Given the description of an element on the screen output the (x, y) to click on. 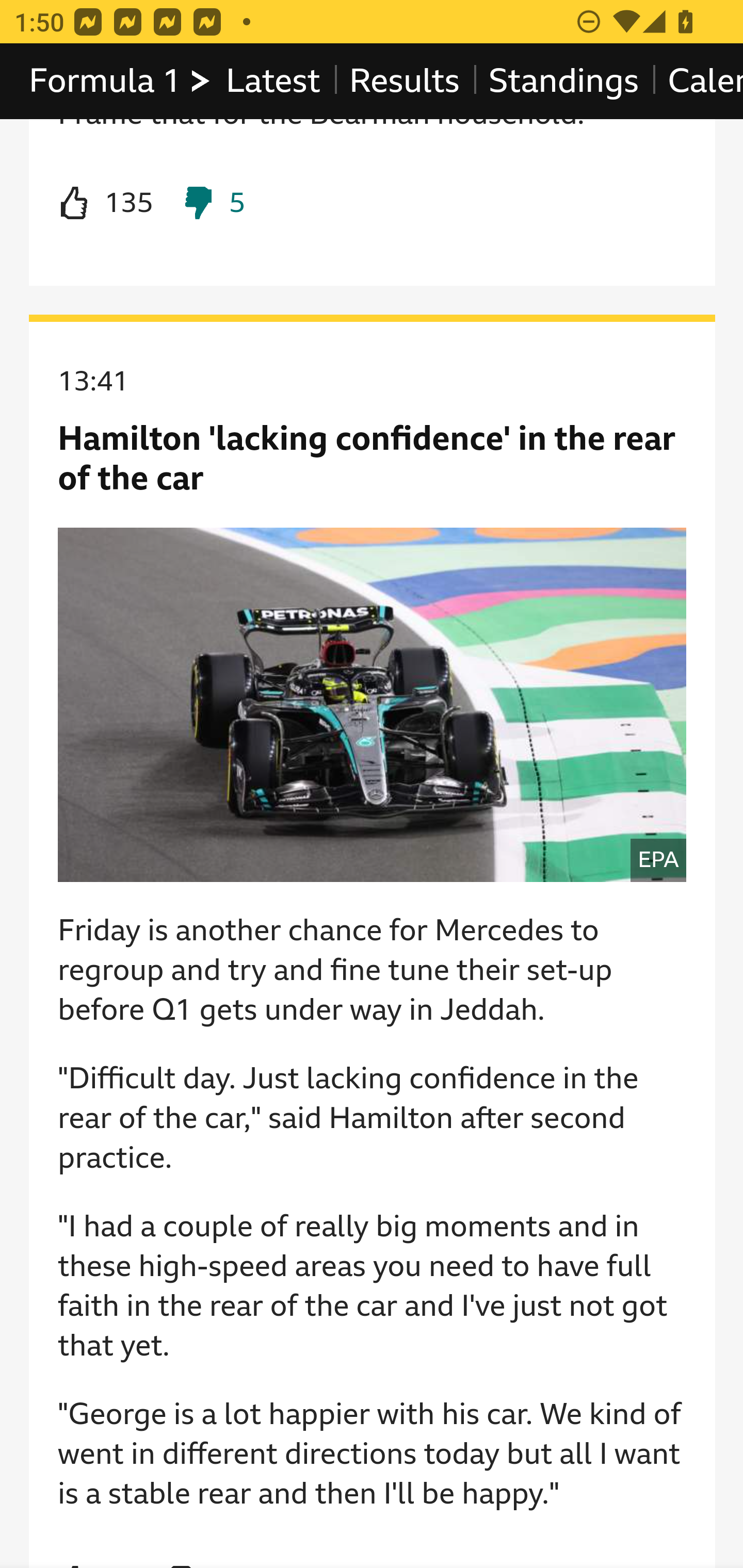
Like (105, 205)
Disliked (212, 205)
